Given the description of an element on the screen output the (x, y) to click on. 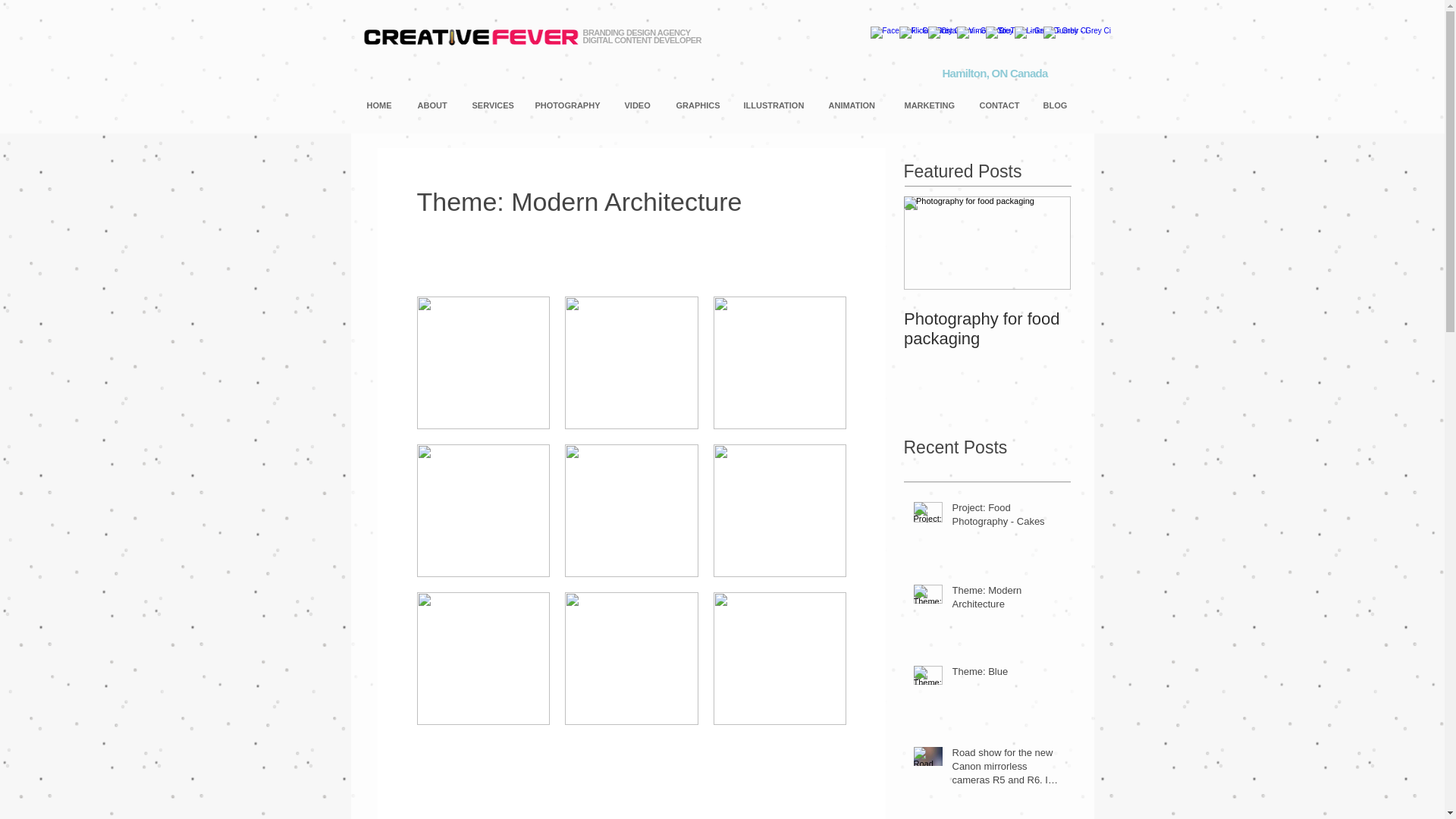
CreativeFeverLogoBlackFull.png (470, 37)
VIDEO (642, 105)
HOME (384, 105)
PHOTOGRAPHY (572, 105)
GRAPHICS (702, 105)
ILLUSTRATION (778, 105)
ABOUT (436, 105)
SERVICES (495, 105)
